Given the description of an element on the screen output the (x, y) to click on. 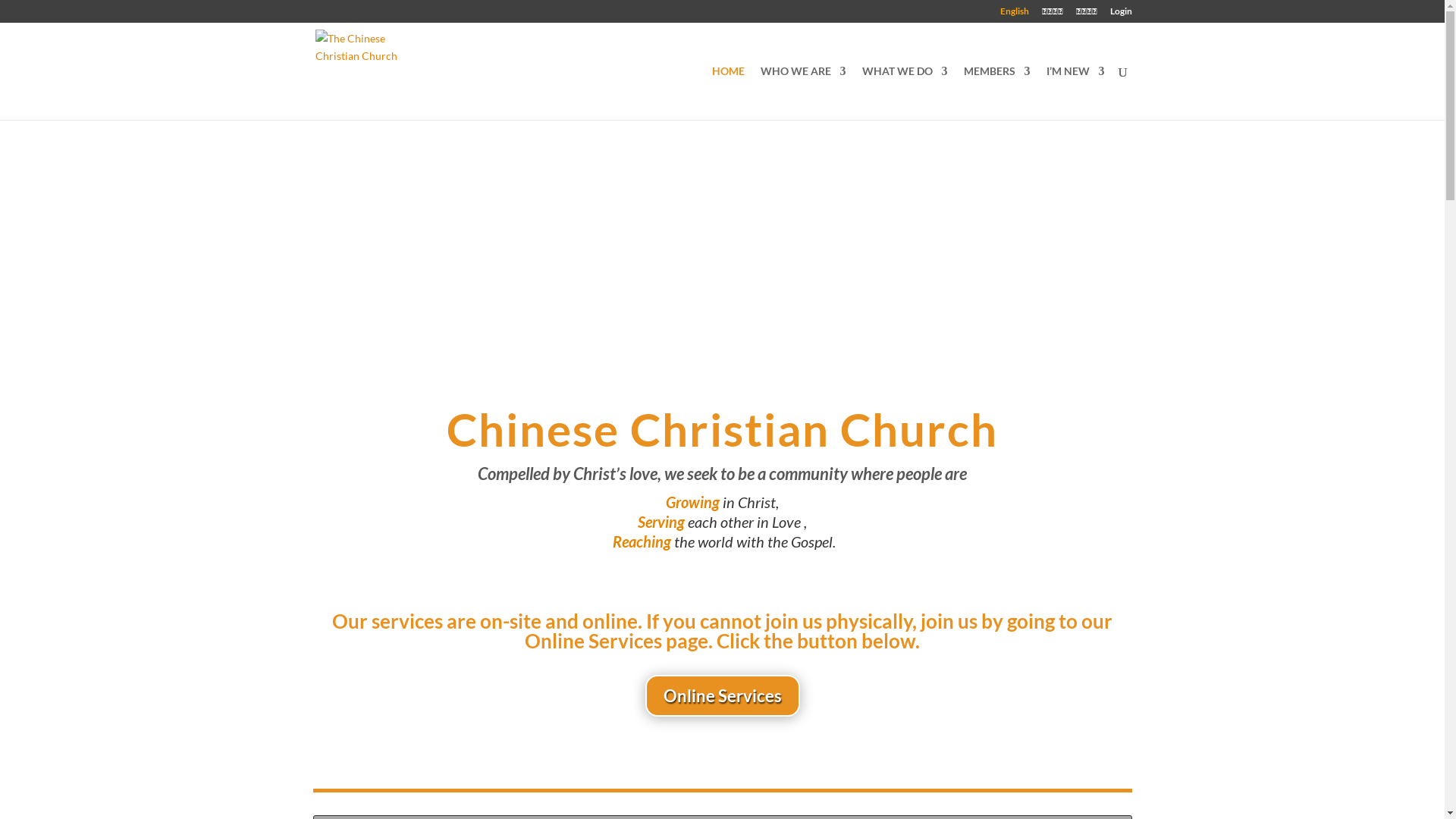
MEMBERS Element type: text (996, 92)
Login Element type: text (1121, 14)
WHAT WE DO Element type: text (904, 92)
English Element type: text (1013, 14)
Online Services Element type: text (721, 695)
WHO WE ARE Element type: text (802, 92)
HOME Element type: text (727, 92)
